Given the description of an element on the screen output the (x, y) to click on. 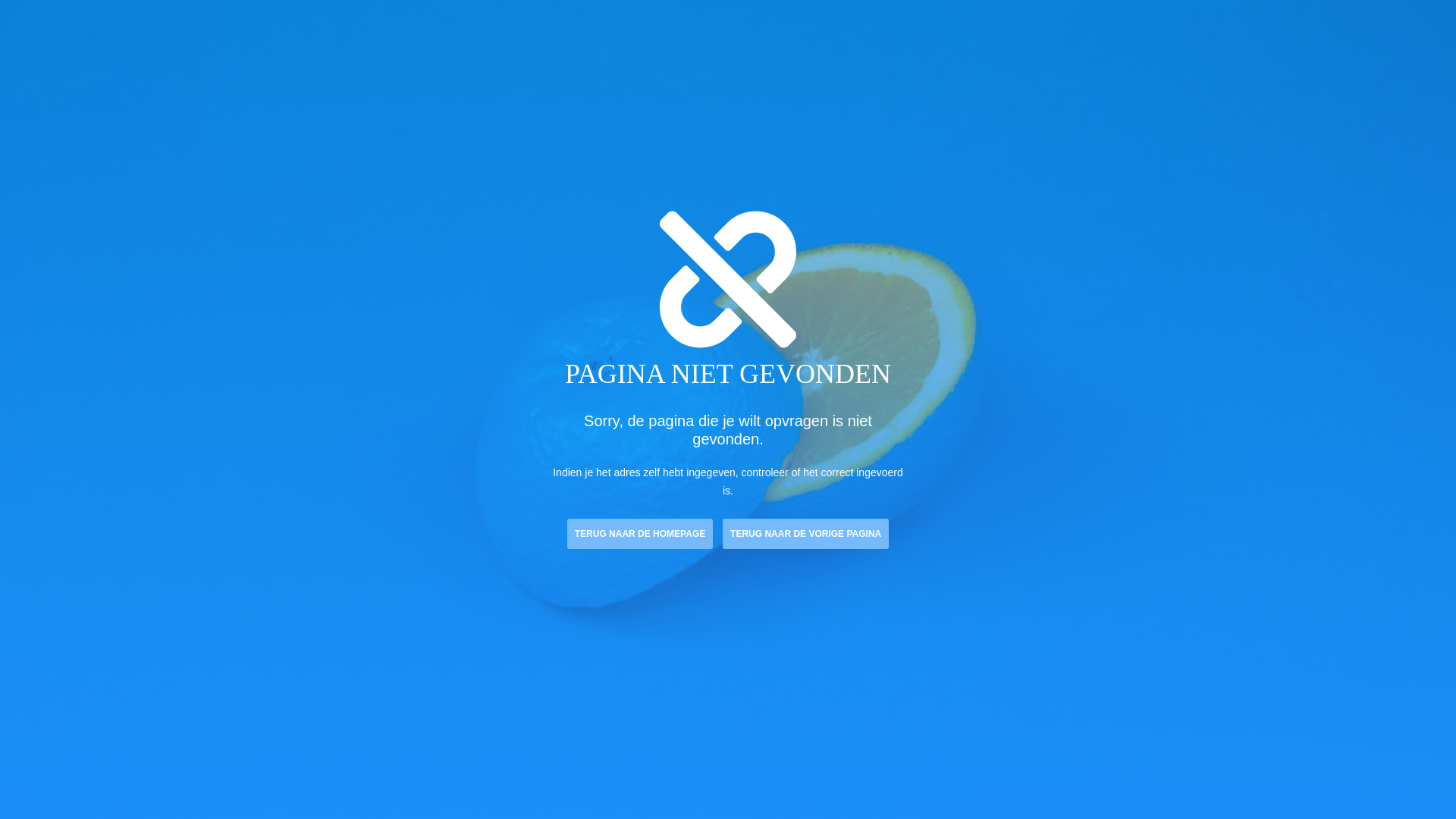
TERUG NAAR DE VORIGE PAGINA Element type: text (805, 533)
TERUG NAAR DE HOMEPAGE Element type: text (639, 533)
